Given the description of an element on the screen output the (x, y) to click on. 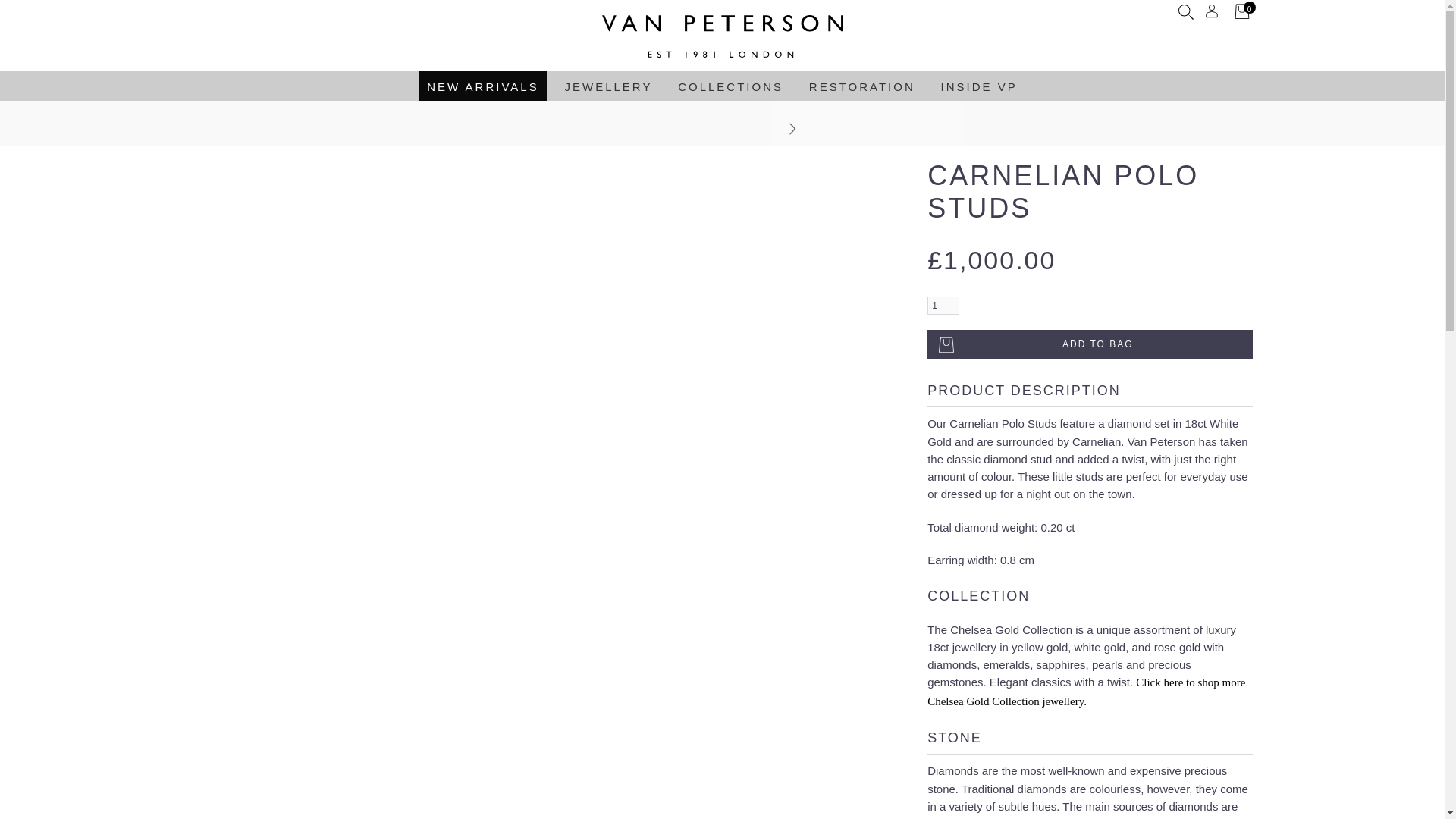
JEWELLERY (607, 85)
1 (943, 305)
Next (791, 128)
NEW ARRIVALS (482, 85)
RESTORATION (862, 85)
COLLECTIONS (729, 85)
INSIDE VP (979, 85)
Qty (943, 305)
